Given the description of an element on the screen output the (x, y) to click on. 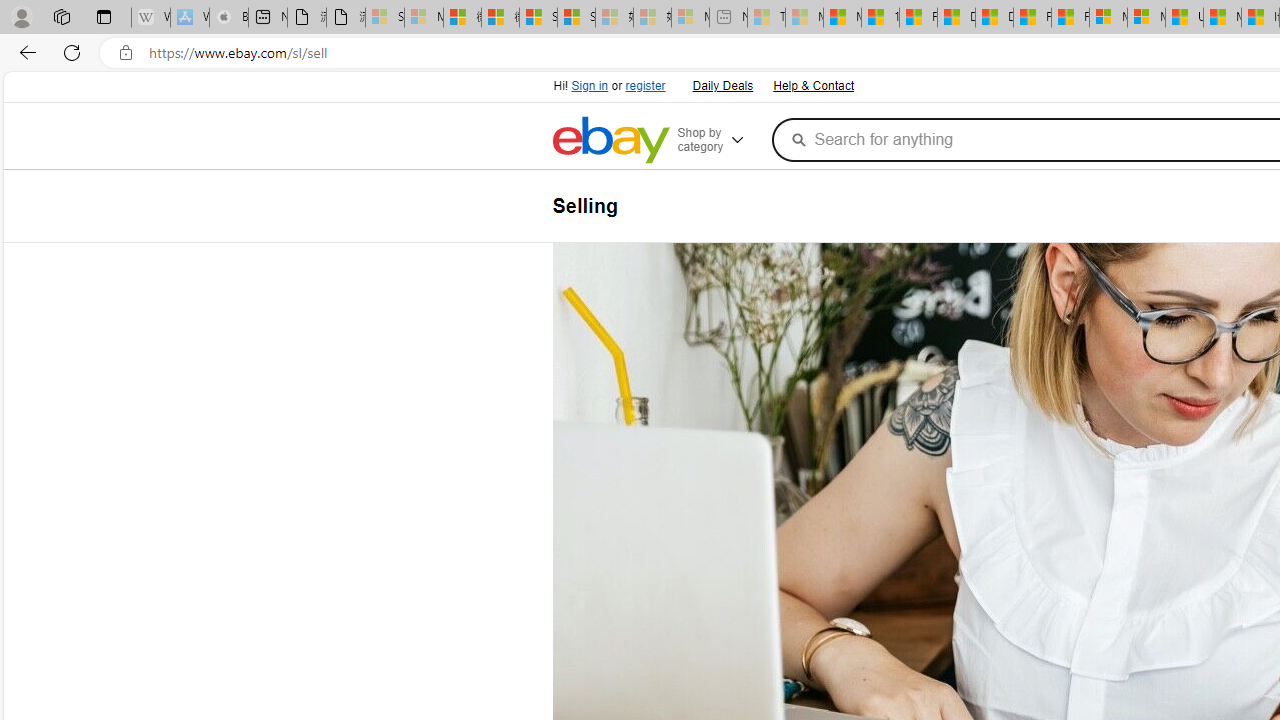
US Heat Deaths Soared To Record High Last Year (1184, 17)
Foo BAR | Trusted Community Engagement and Contributions (1070, 17)
Microsoft account | Account Checkup - Sleeping (690, 17)
Shop by category (720, 140)
Help & Contact (813, 86)
Wikipedia - Sleeping (150, 17)
Marine life - MSN - Sleeping (804, 17)
Buy iPad - Apple - Sleeping (228, 17)
